Given the description of an element on the screen output the (x, y) to click on. 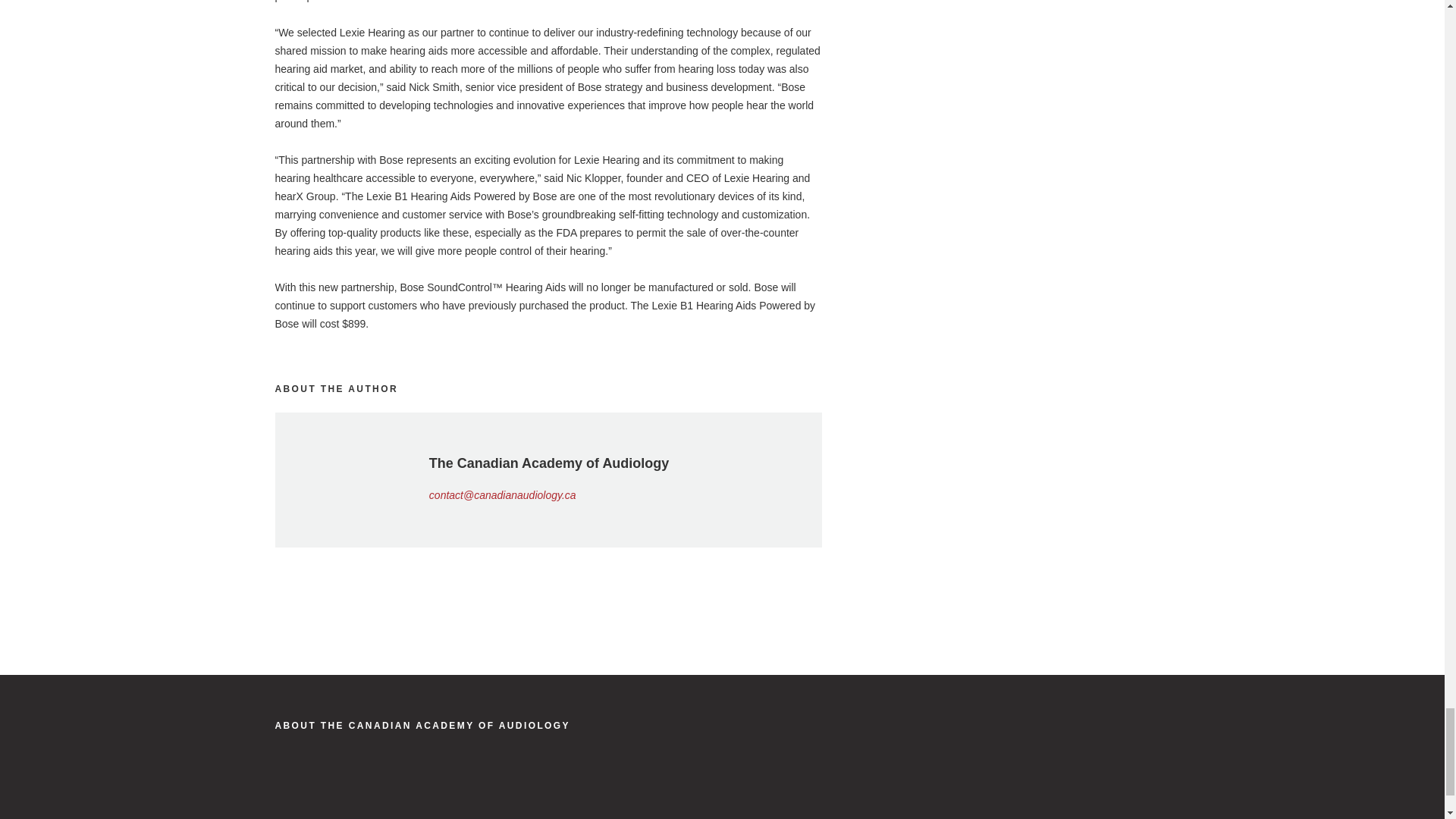
Canadian Audiologists on LinkedIn (817, 777)
Follow Canadian Audiologists on Twitter (874, 777)
The Canadian Academy of Audiology (379, 789)
Like Canadian Audiologists on Facebook (846, 777)
The Canadian Academy of Audiology (422, 725)
